Given the description of an element on the screen output the (x, y) to click on. 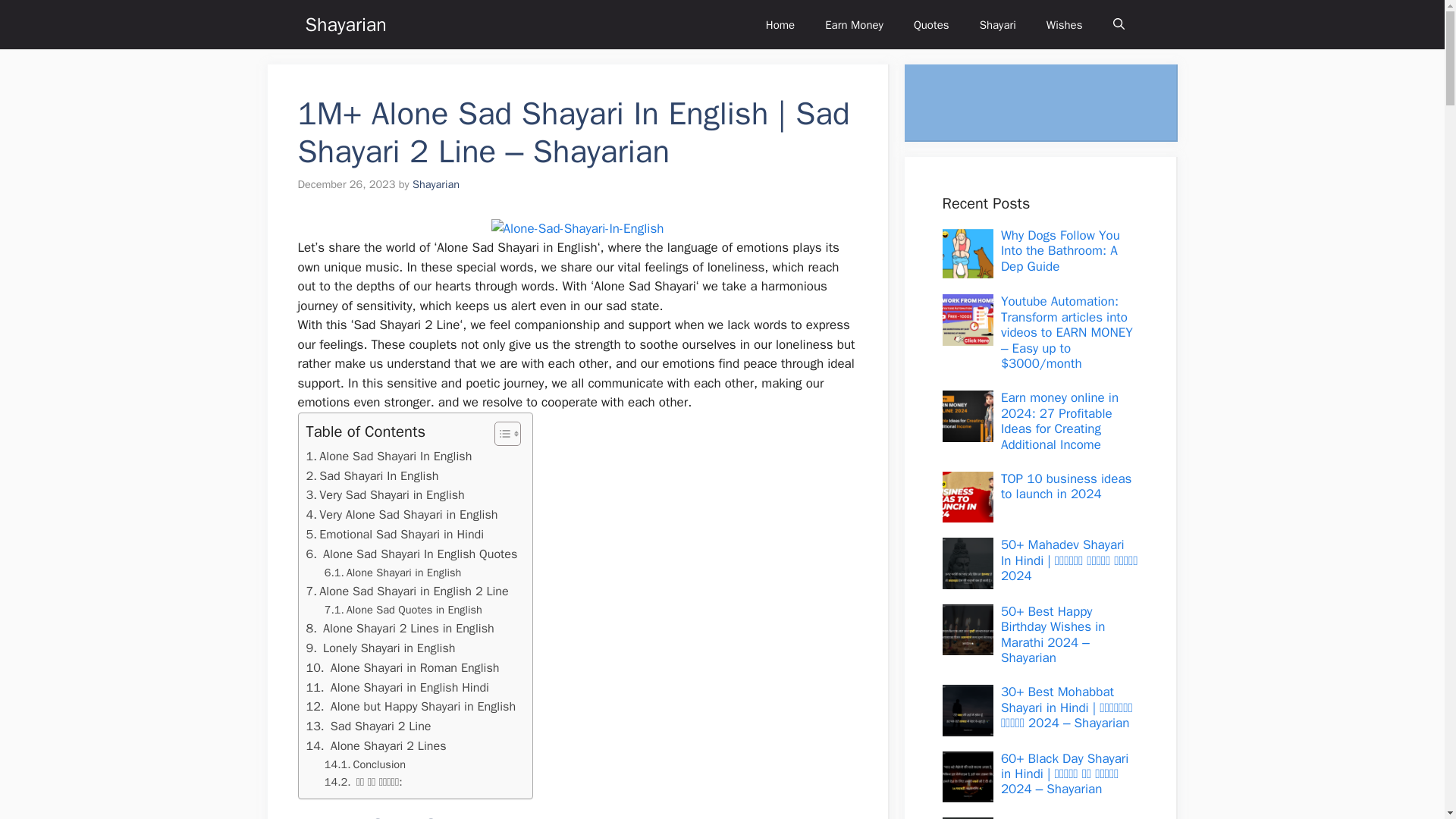
Very Alone Sad Shayari in English (401, 514)
Wishes (1063, 23)
Alone Sad Shayari In English (577, 229)
Very Sad Shayari in English (384, 495)
Alone Sad Quotes in English (402, 610)
Shayarian (344, 24)
Emotional Sad Shayari in Hindi (394, 534)
Shayari (996, 23)
Sad Shayari In English (372, 476)
Earn Money (853, 23)
Alone Sad Shayari In English (388, 456)
 Alone but Happy Shayari in English (410, 706)
 Sad Shayari 2 Line (367, 726)
